Given the description of an element on the screen output the (x, y) to click on. 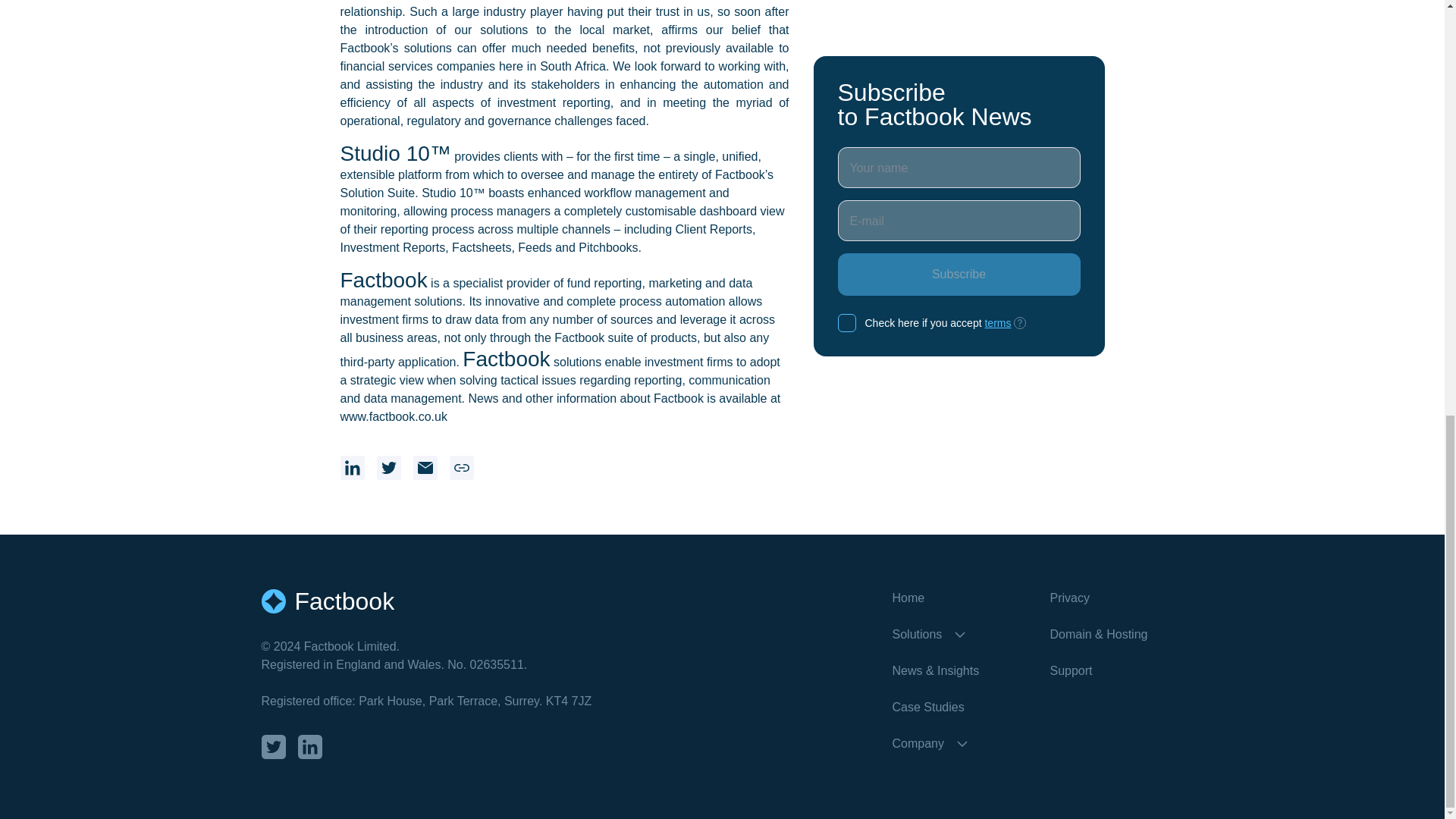
Home (958, 597)
Support (1115, 670)
Case Studies (958, 707)
Privacy (1115, 597)
Factbook (575, 600)
